Given the description of an element on the screen output the (x, y) to click on. 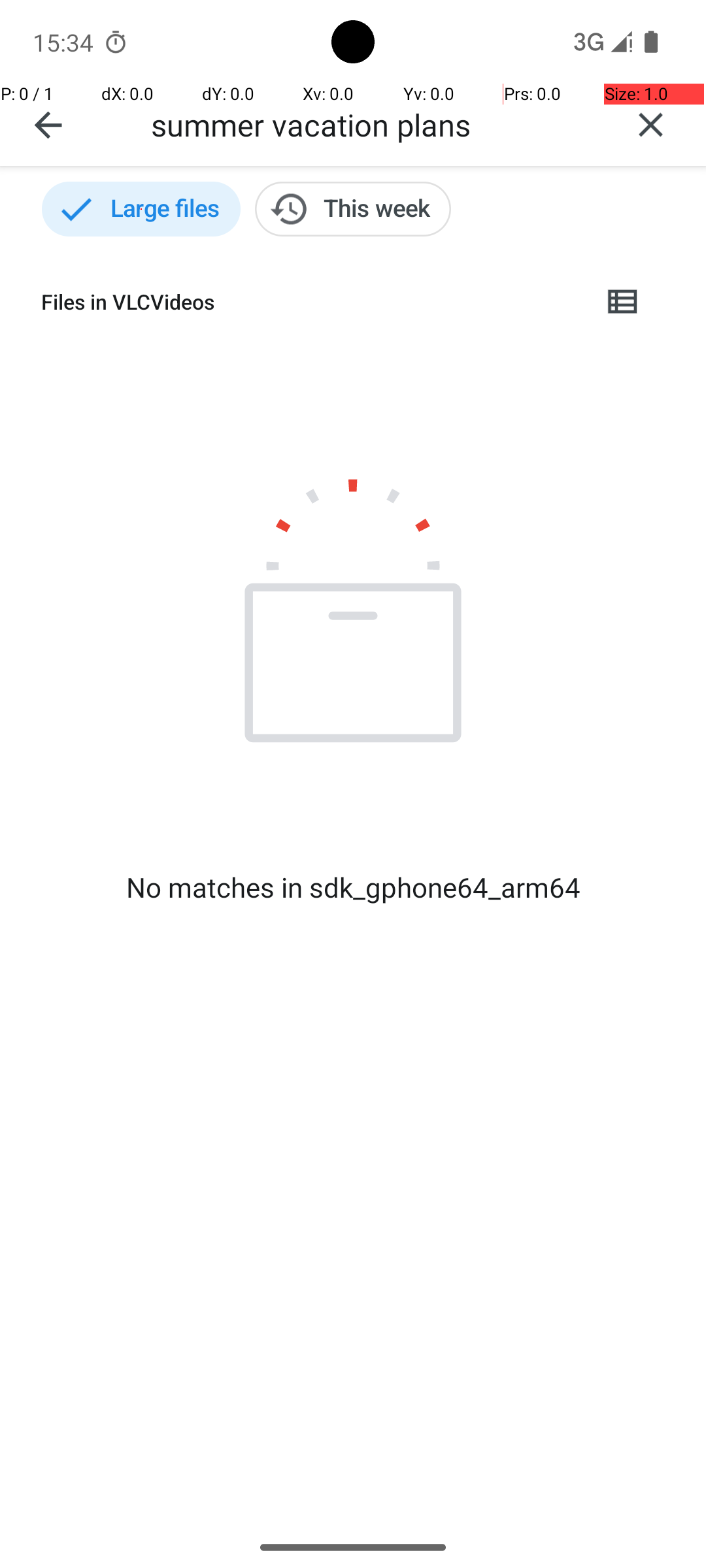
Files in VLCVideos Element type: android.widget.TextView (311, 301)
summer vacation plans Element type: android.widget.AutoCompleteTextView (373, 124)
No matches in sdk_gphone64_arm64 Element type: android.widget.TextView (352, 886)
